Given the description of an element on the screen output the (x, y) to click on. 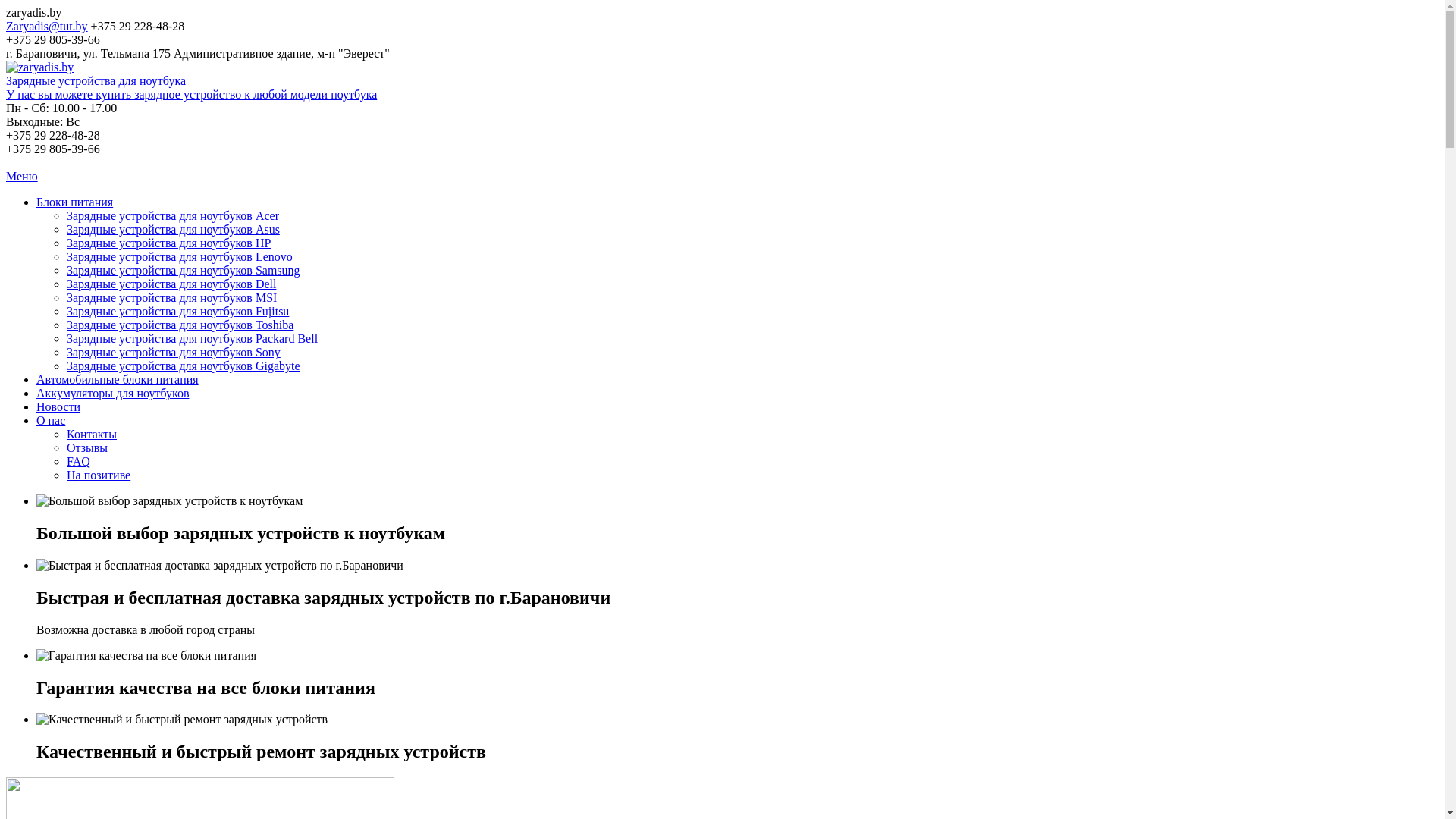
Zaryadis@tut.by Element type: text (46, 25)
FAQ Element type: text (78, 461)
